Given the description of an element on the screen output the (x, y) to click on. 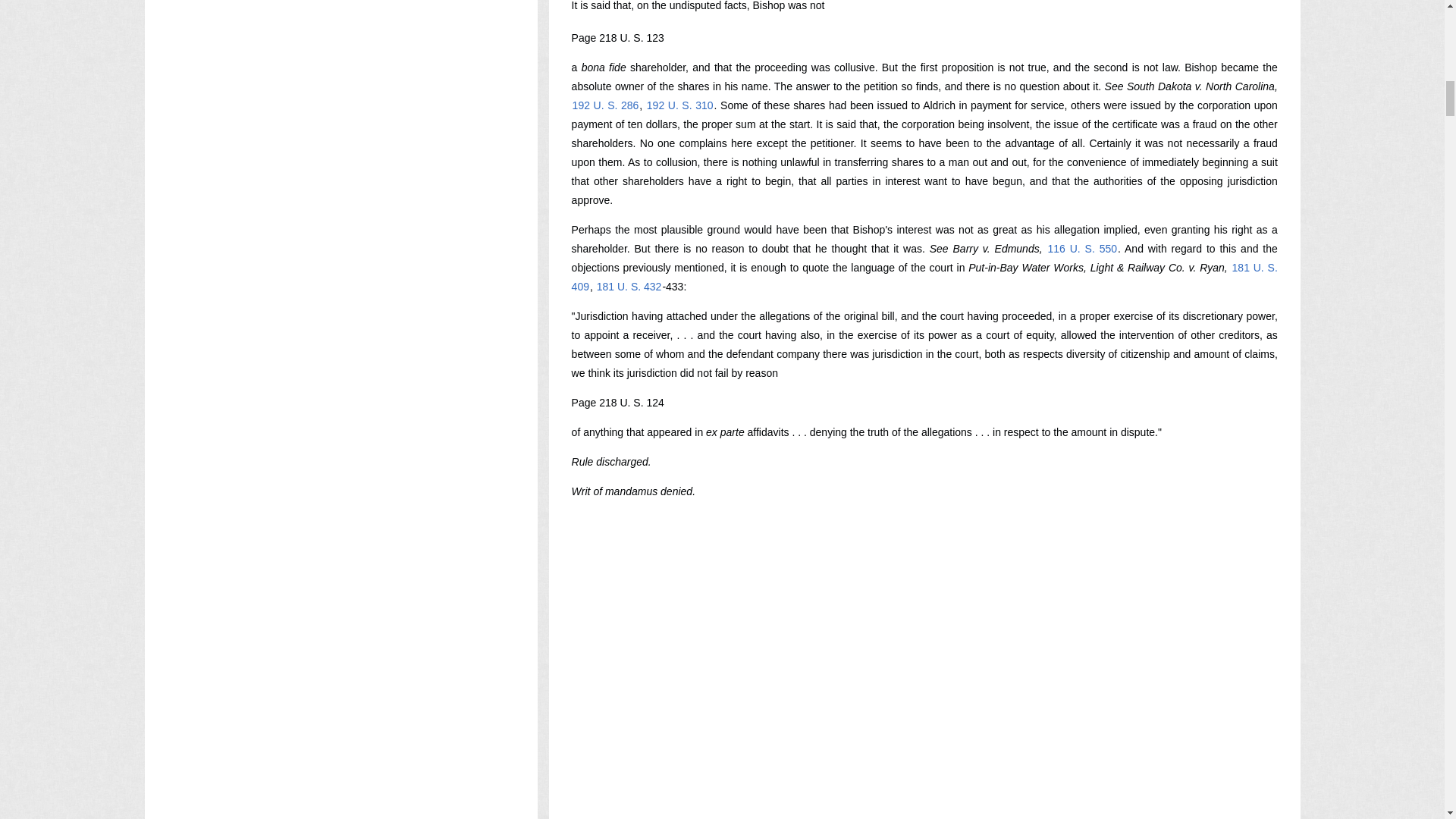
Page 218 U. S. 123 (617, 37)
116 U. S. 550 (1082, 248)
192 U. S. 286 (606, 105)
192 U. S. 310 (680, 105)
Page 218 U. S. 124 (617, 402)
181 U. S. 432 (628, 286)
